Given the description of an element on the screen output the (x, y) to click on. 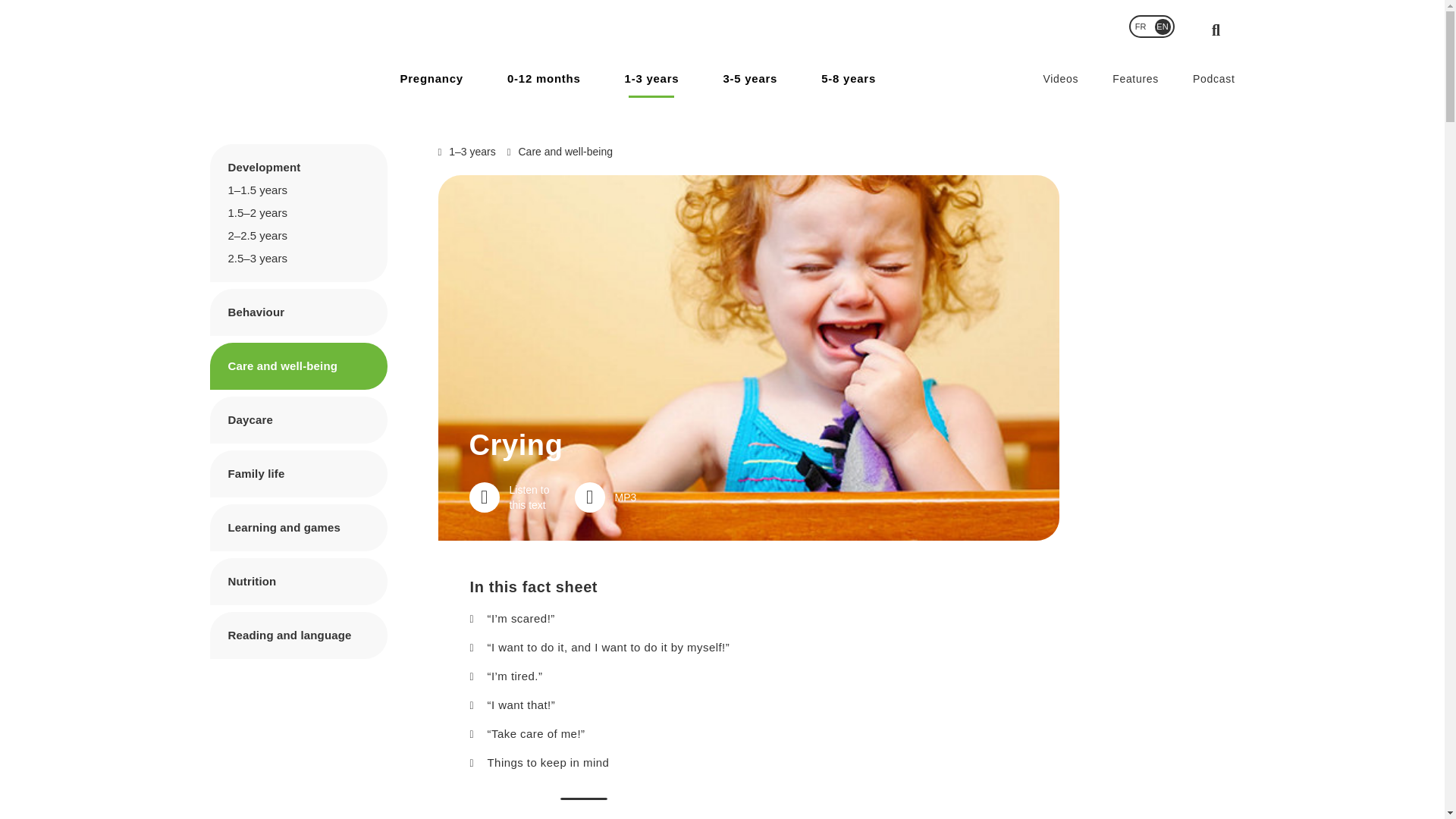
Home (267, 54)
Fermer (1225, 23)
Show searchbox (1216, 30)
Search (993, 9)
